Given the description of an element on the screen output the (x, y) to click on. 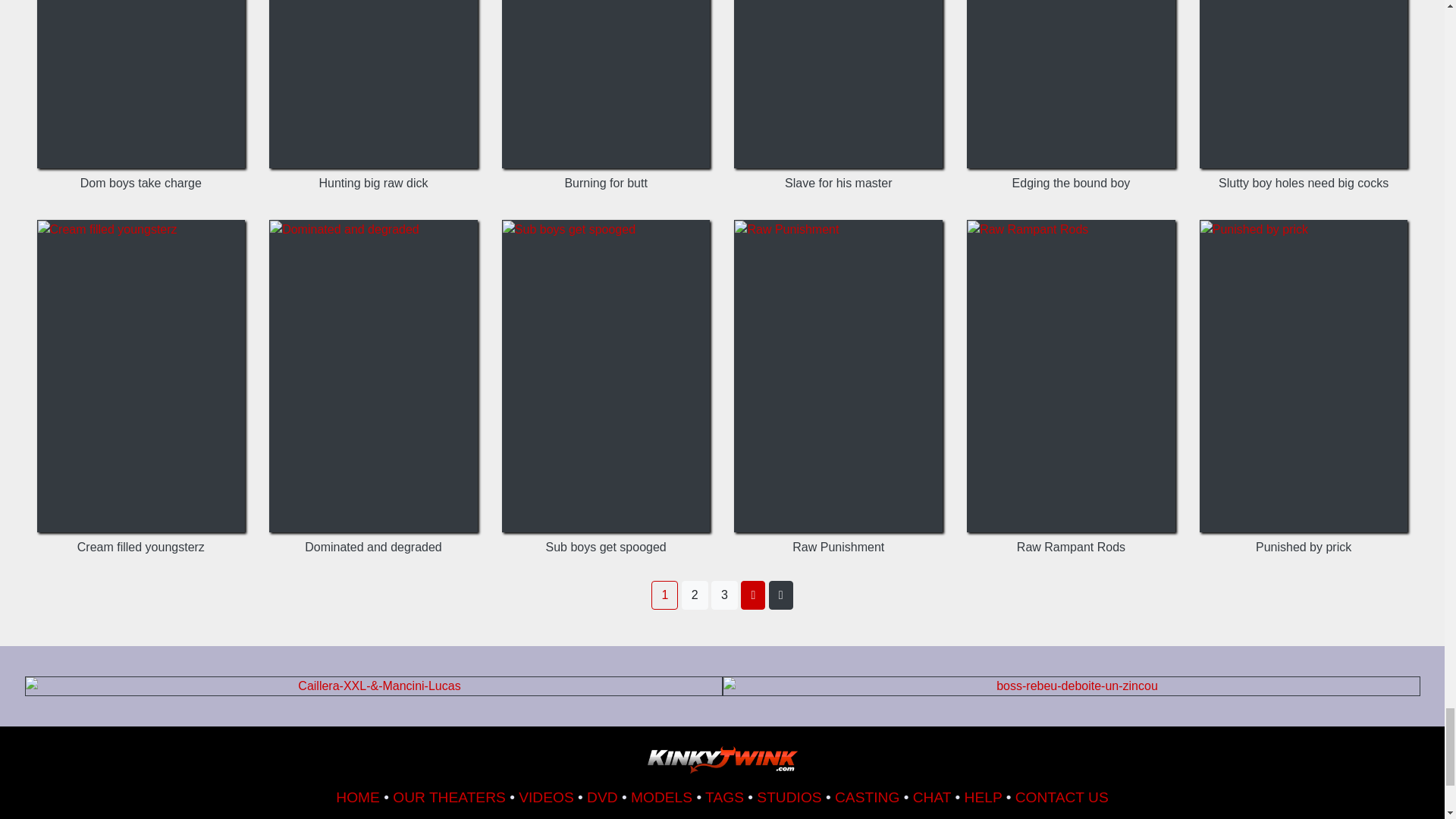
KinkyTwink (721, 759)
